Given the description of an element on the screen output the (x, y) to click on. 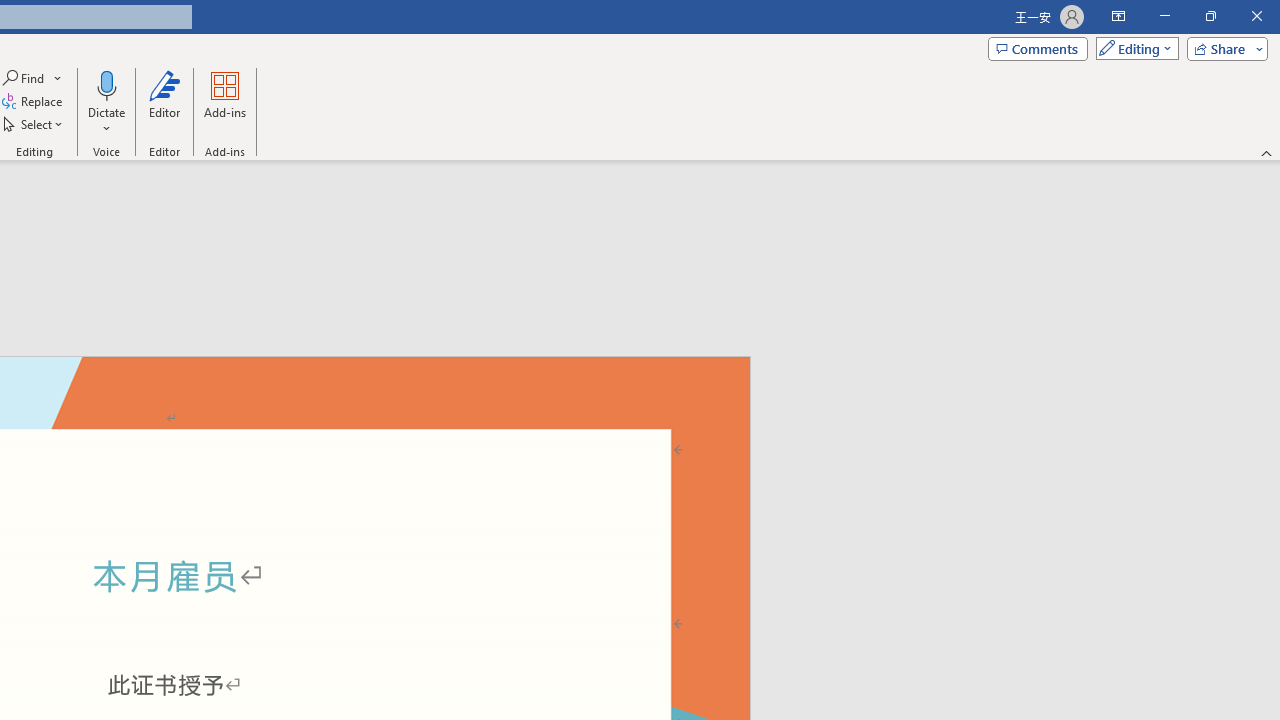
Mode (1133, 47)
Dictate (106, 84)
Comments (1038, 48)
Share (1223, 48)
Ribbon Display Options (1118, 16)
Minimize (1164, 16)
Restore Down (1210, 16)
Close (1256, 16)
Editor (164, 102)
Collapse the Ribbon (1267, 152)
Dictate (106, 102)
More Options (106, 121)
